Given the description of an element on the screen output the (x, y) to click on. 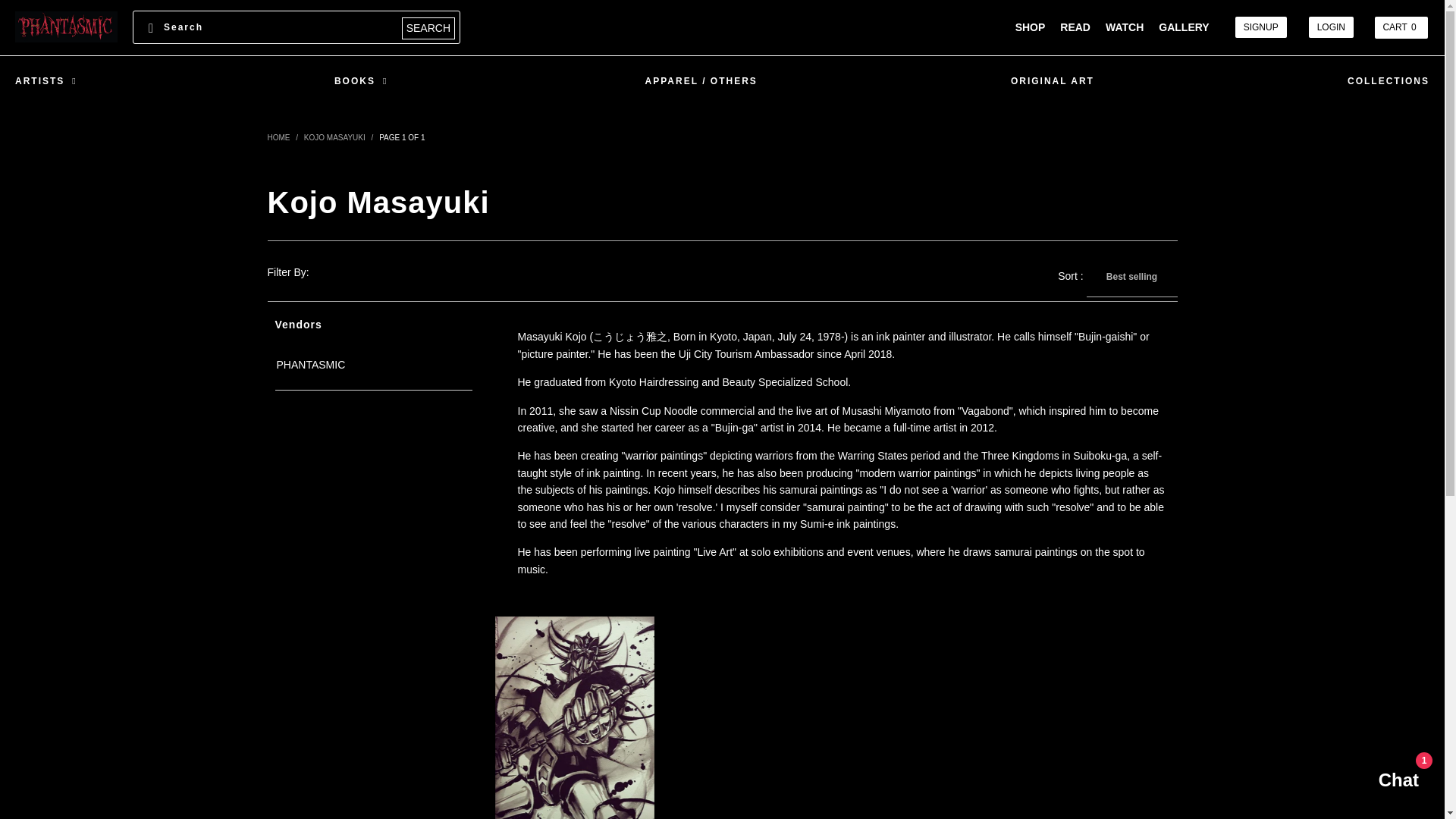
Kojo Masayuki (334, 137)
My Account  (1331, 26)
My Account  (1260, 26)
PHANTASMIC (65, 27)
PHANTASMIC (277, 137)
PHANTASMIC (310, 365)
